Given the description of an element on the screen output the (x, y) to click on. 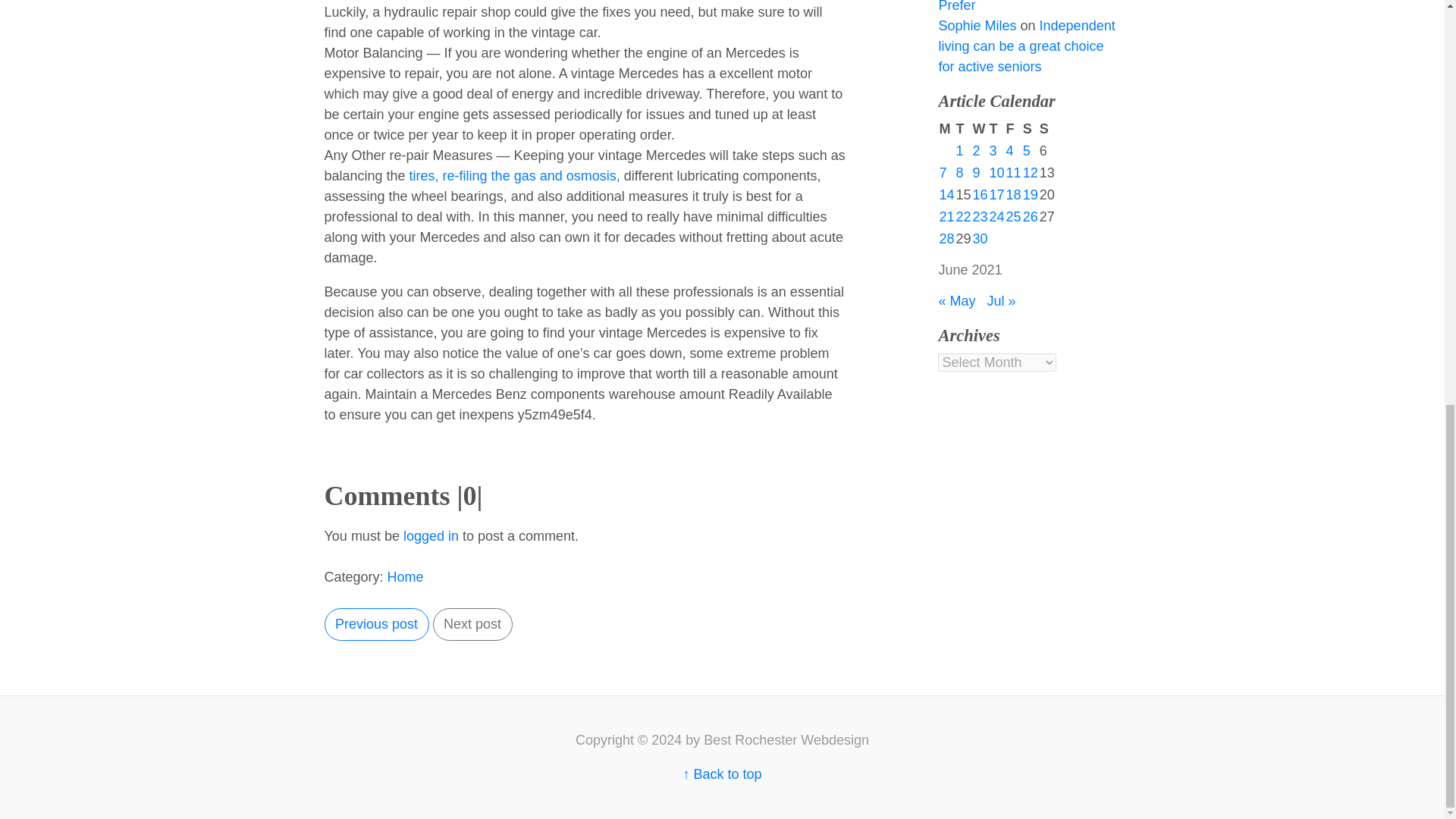
19 (1030, 194)
10 (997, 172)
tires, re-filing the gas and osmosis, (514, 175)
Sophie Miles (976, 25)
11 (1014, 172)
21 (946, 216)
17 (997, 194)
16 (980, 194)
Home (405, 576)
22 (963, 216)
